Given the description of an element on the screen output the (x, y) to click on. 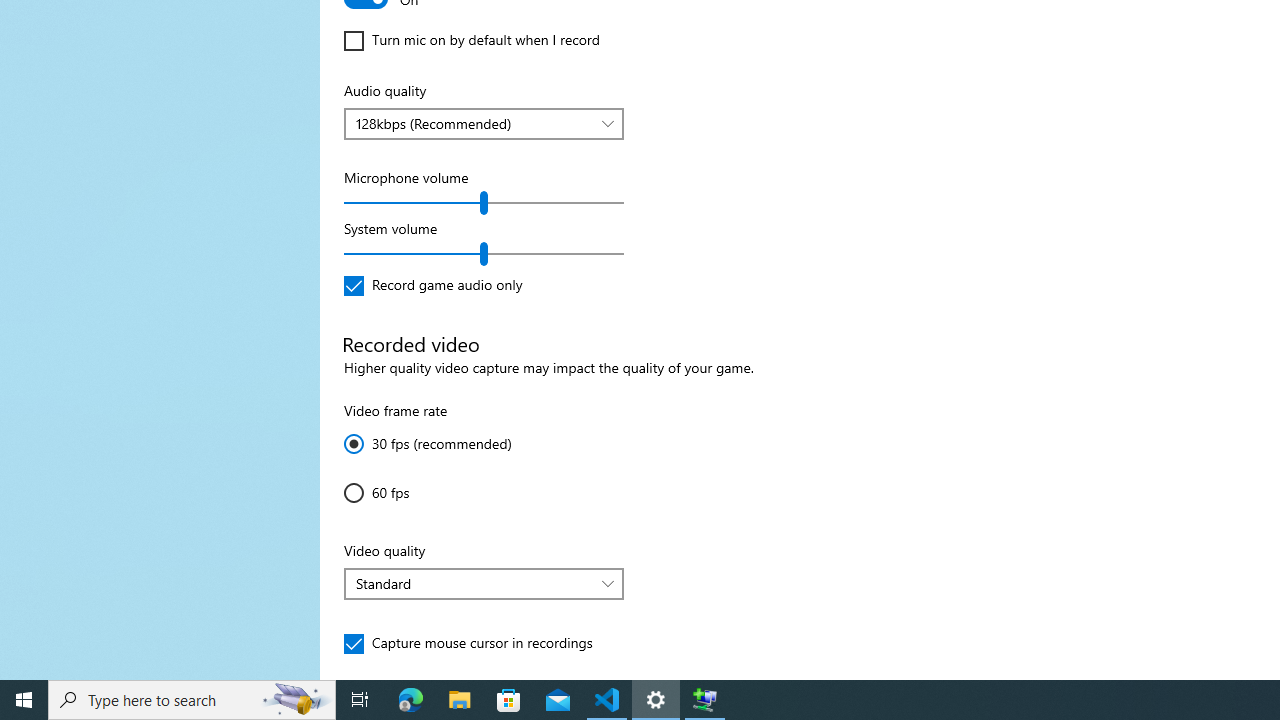
Record game audio only (433, 285)
Turn mic on by default when I record (472, 40)
60 fps (403, 492)
System volume (484, 254)
Video quality (484, 583)
Audio quality (484, 123)
